Given the description of an element on the screen output the (x, y) to click on. 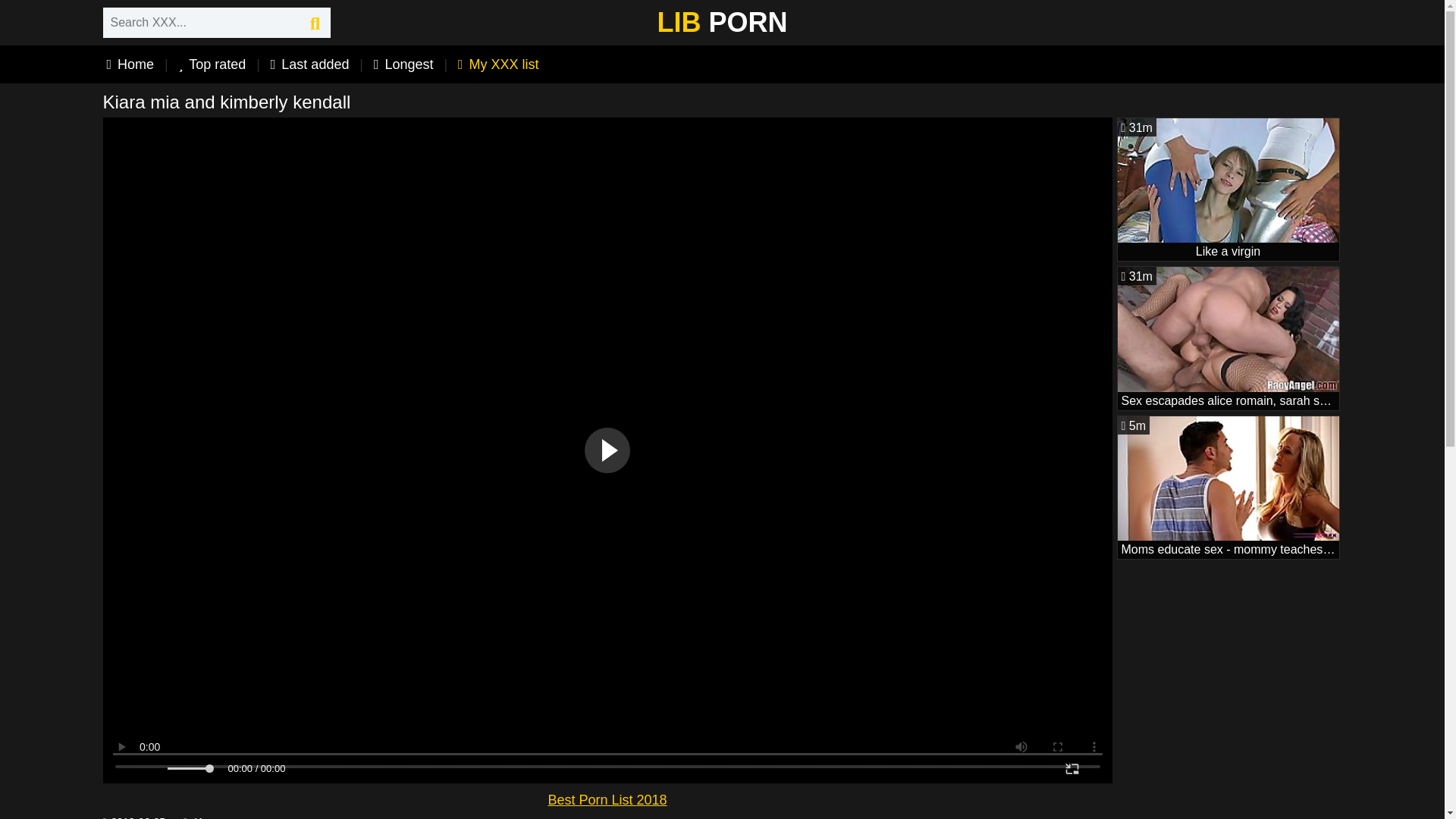
Longest (403, 64)
Best Porn List 2018 (606, 799)
My XXX list (1227, 487)
Top rated (498, 64)
Last added (212, 64)
Home (309, 64)
LIB PORN (1227, 338)
